Given the description of an element on the screen output the (x, y) to click on. 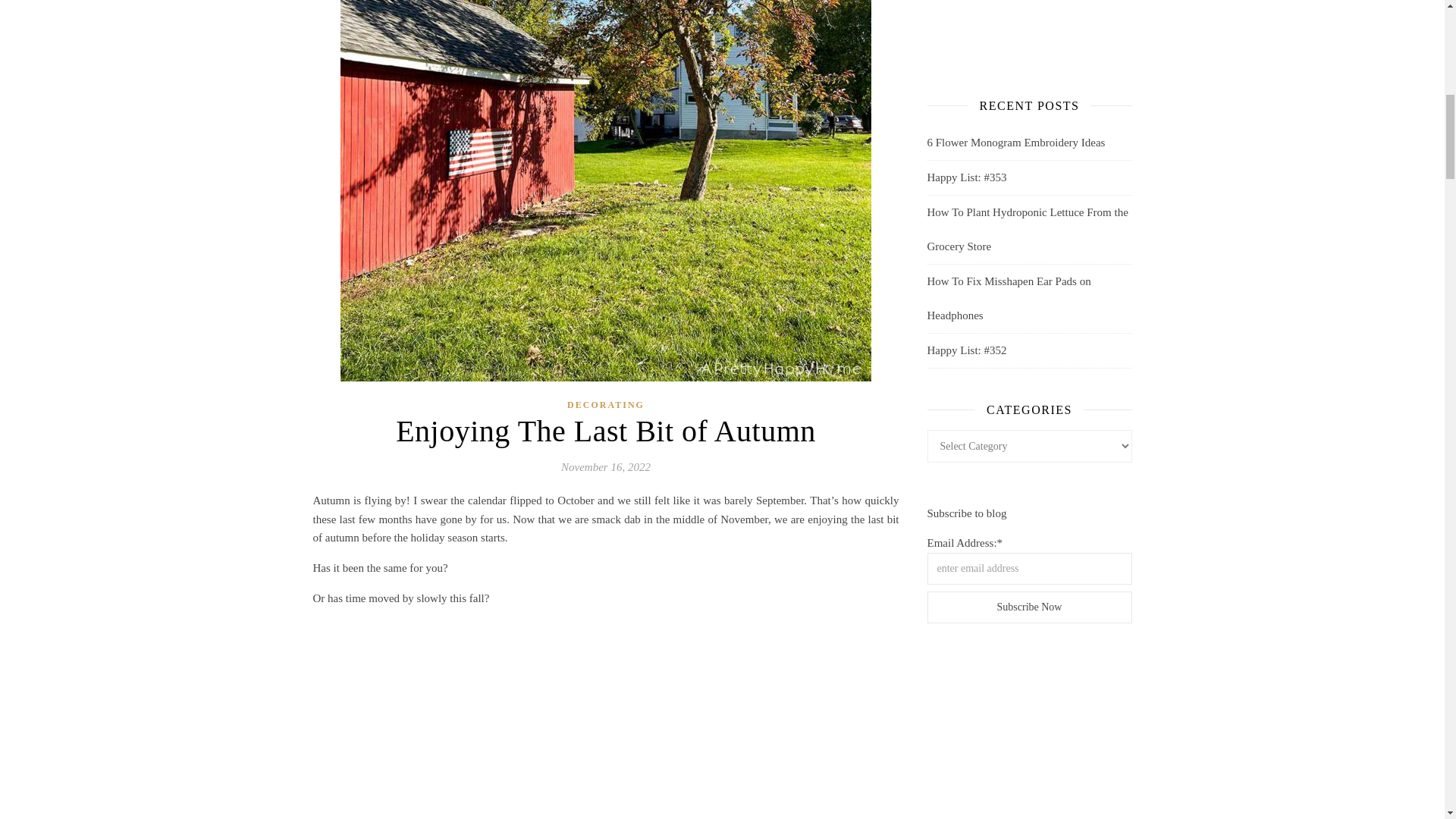
Subscribe Now (1028, 607)
